Given the description of an element on the screen output the (x, y) to click on. 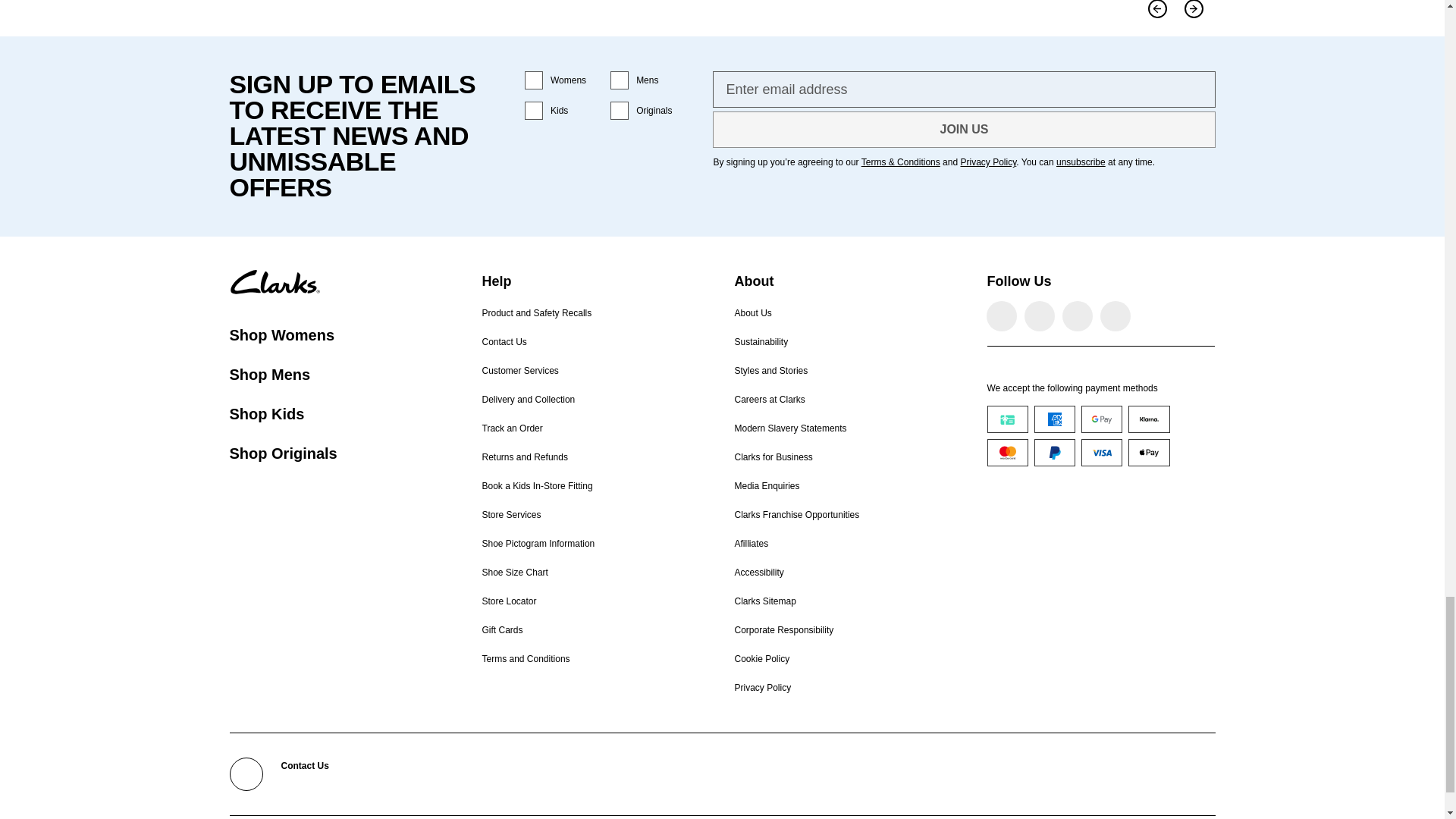
originals (619, 110)
kids (533, 110)
womens (533, 80)
mens (619, 80)
